Given the description of an element on the screen output the (x, y) to click on. 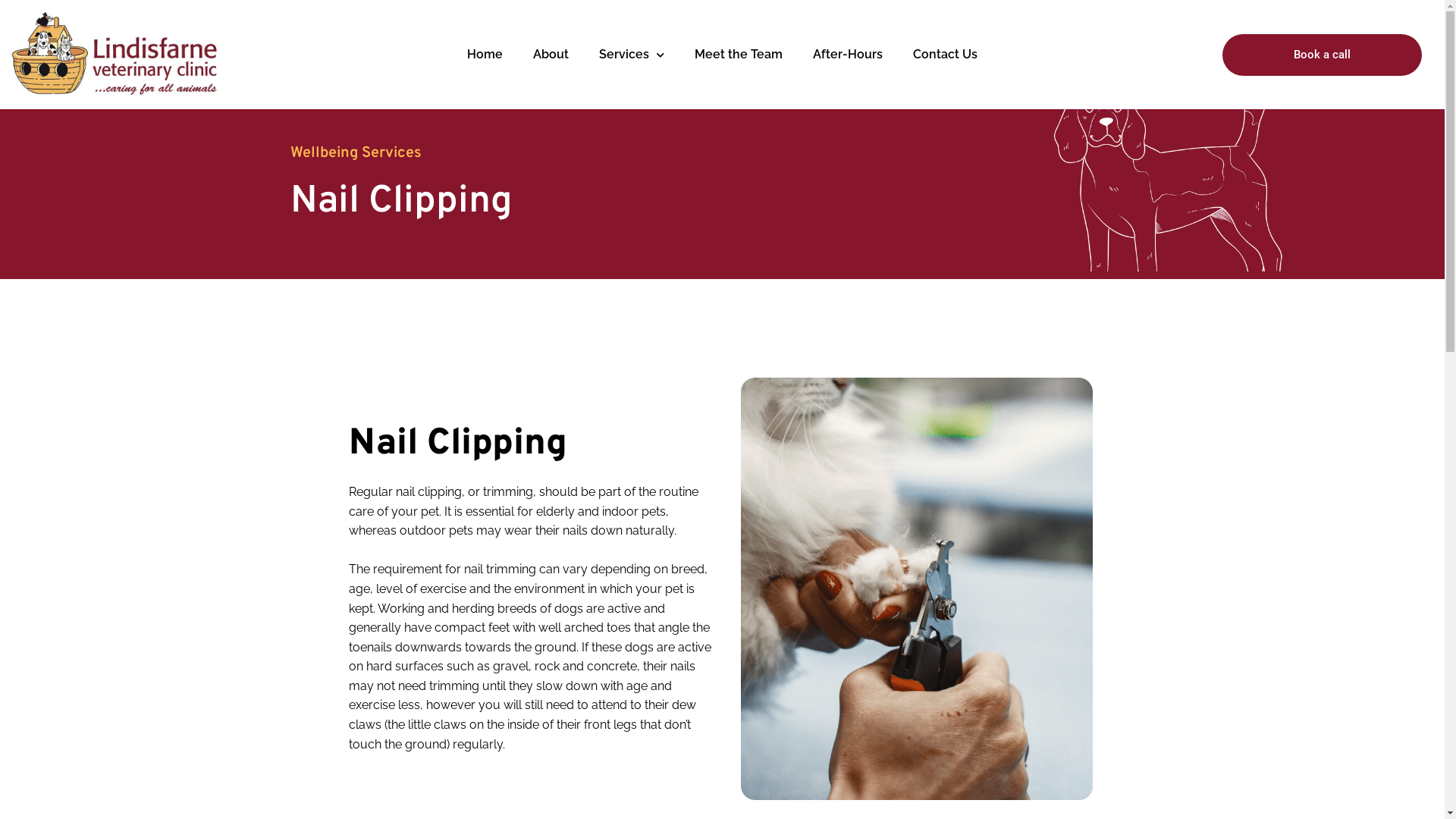
Services Element type: text (631, 54)
Book a call Element type: text (1321, 54)
About Element type: text (550, 54)
After-Hours Element type: text (847, 54)
Meet the Team Element type: text (738, 54)
Home Element type: text (484, 54)
Contact Us Element type: text (944, 54)
